Given the description of an element on the screen output the (x, y) to click on. 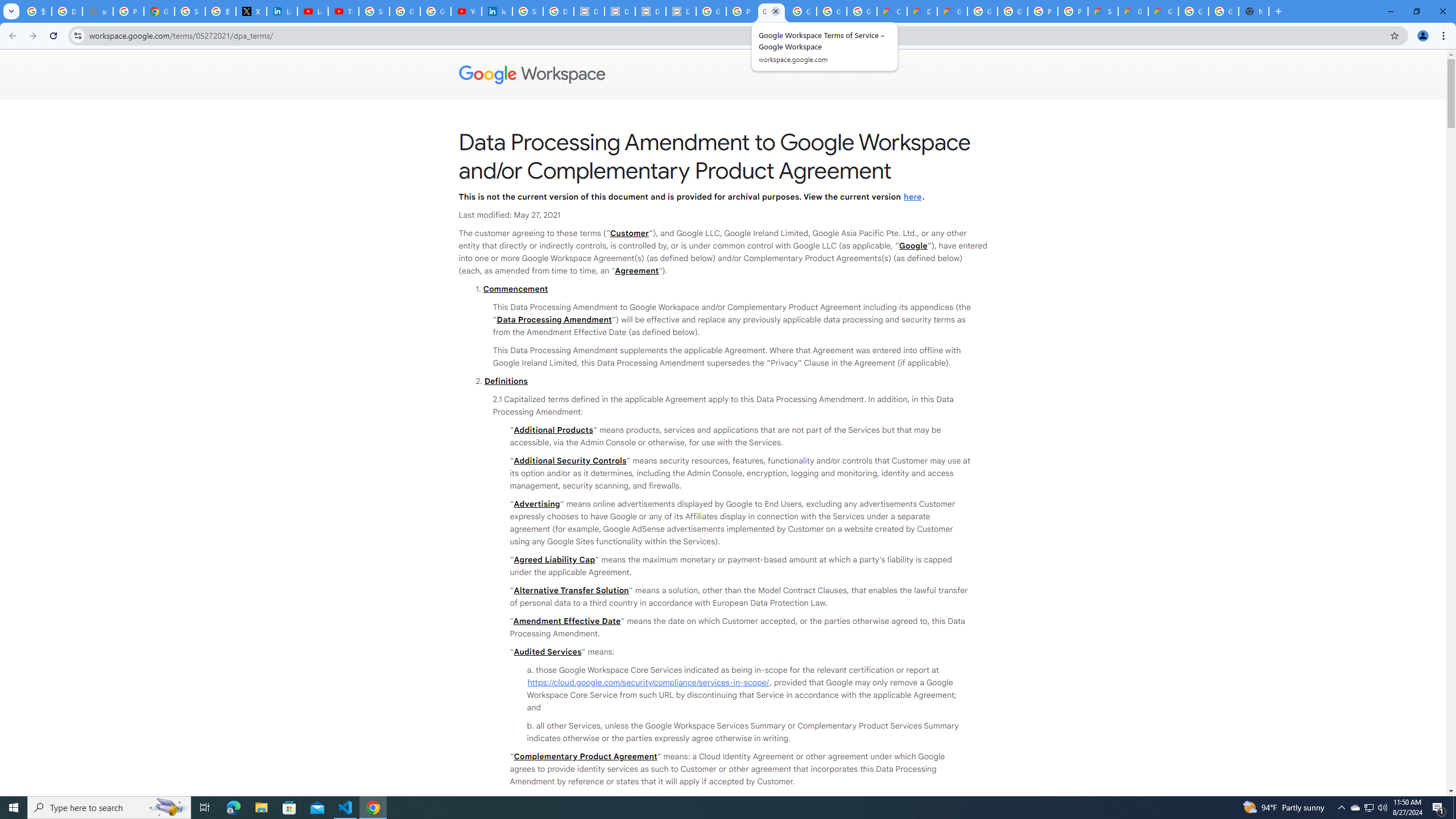
LinkedIn - YouTube (312, 11)
here (912, 196)
X (251, 11)
Google Cloud Platform (982, 11)
Google Cloud Platform (1193, 11)
LinkedIn Privacy Policy (282, 11)
